Given the description of an element on the screen output the (x, y) to click on. 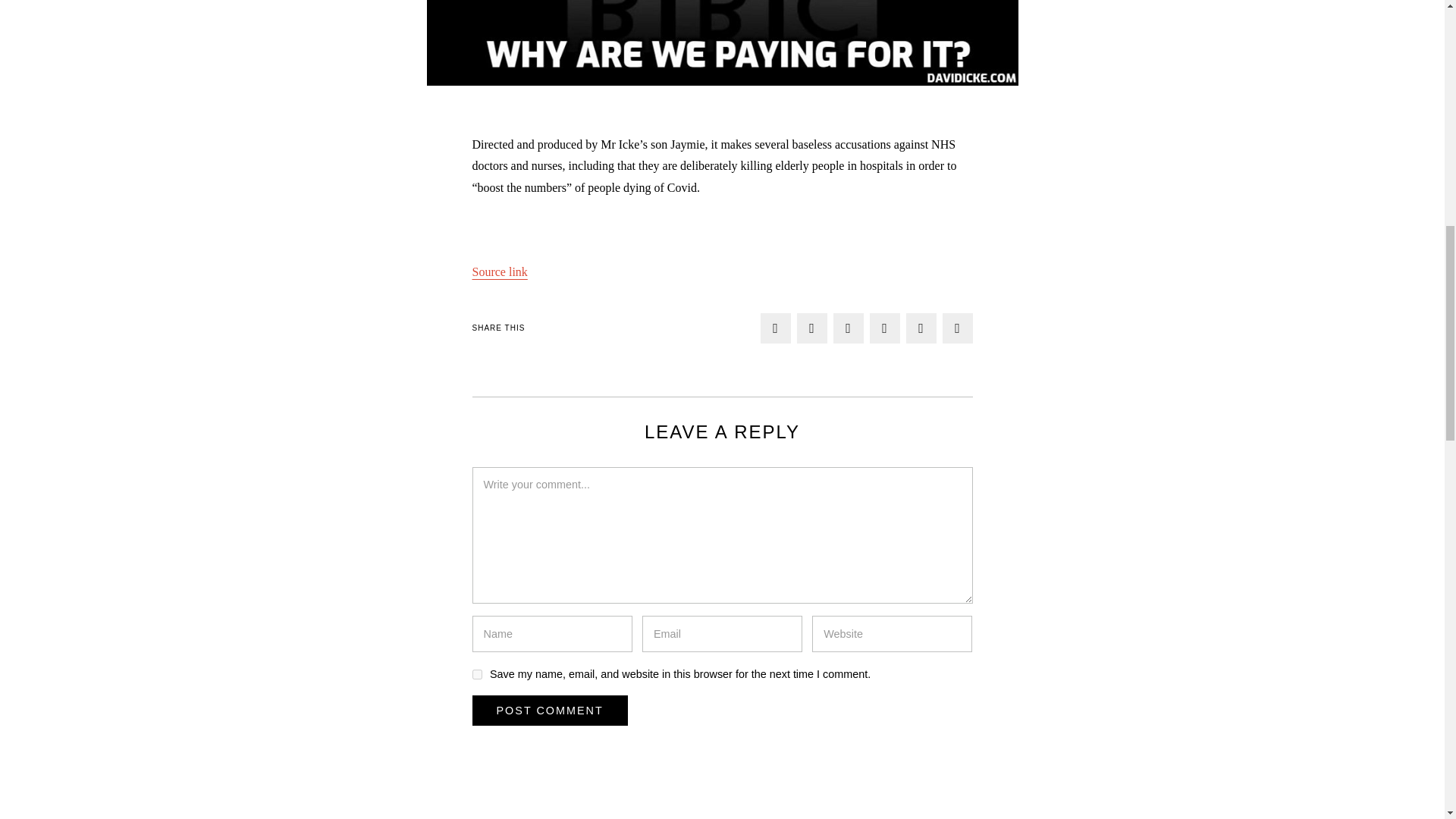
Post Comment (549, 710)
yes (476, 674)
Post Comment (549, 710)
Source link (499, 271)
